Given the description of an element on the screen output the (x, y) to click on. 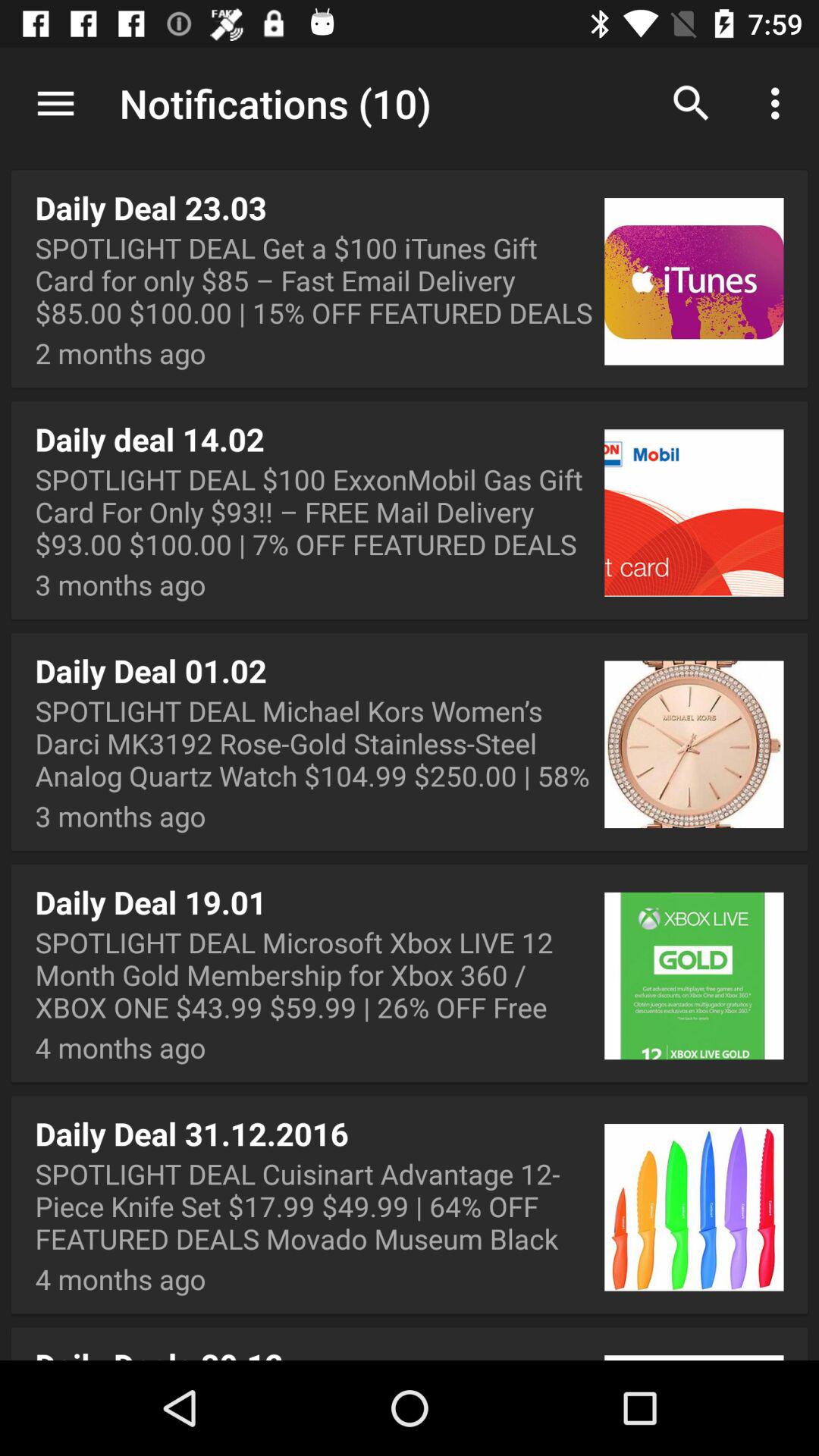
open app next to the notifications (10) item (55, 103)
